Given the description of an element on the screen output the (x, y) to click on. 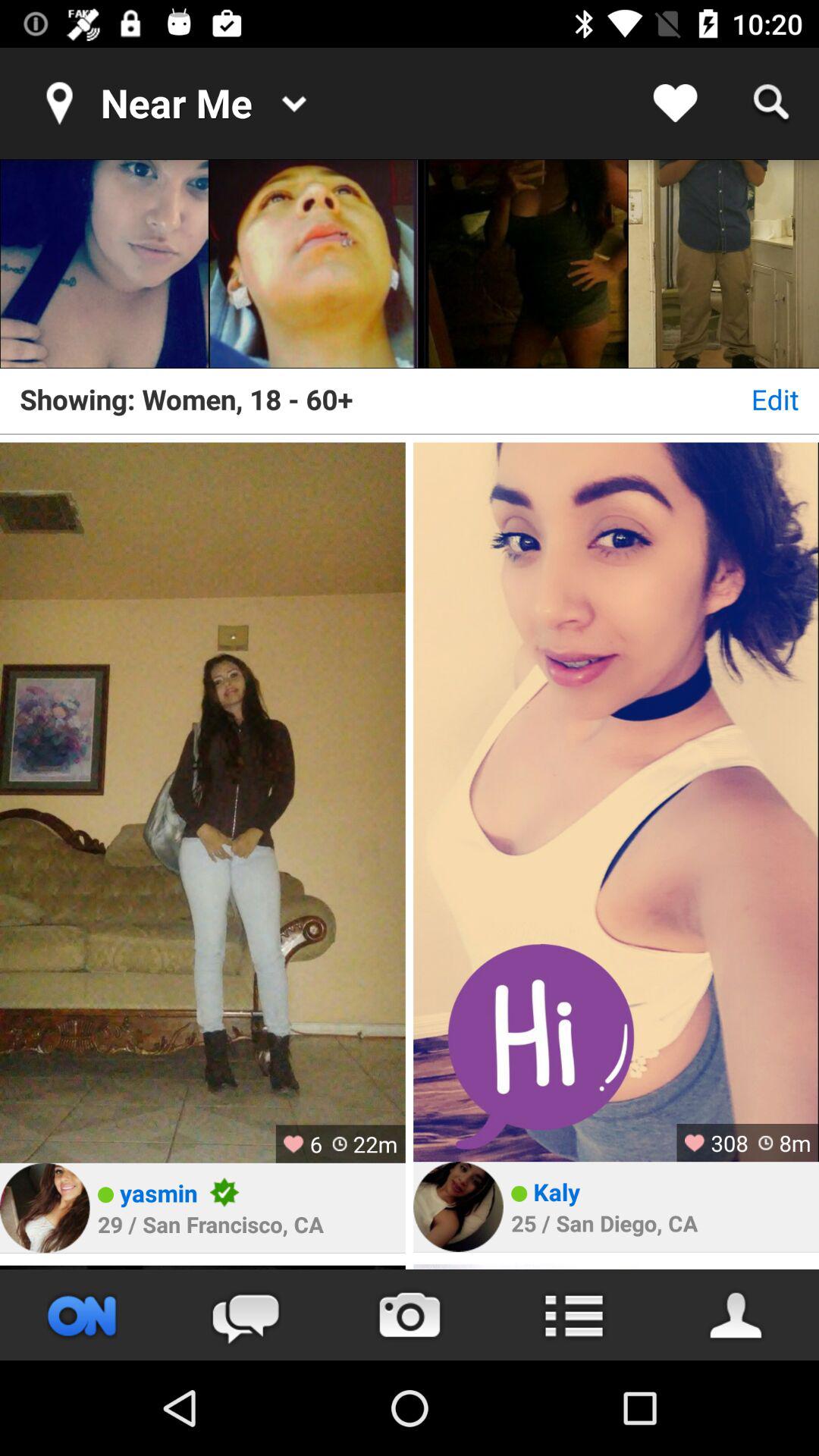
go to photos tab (409, 1315)
